Given the description of an element on the screen output the (x, y) to click on. 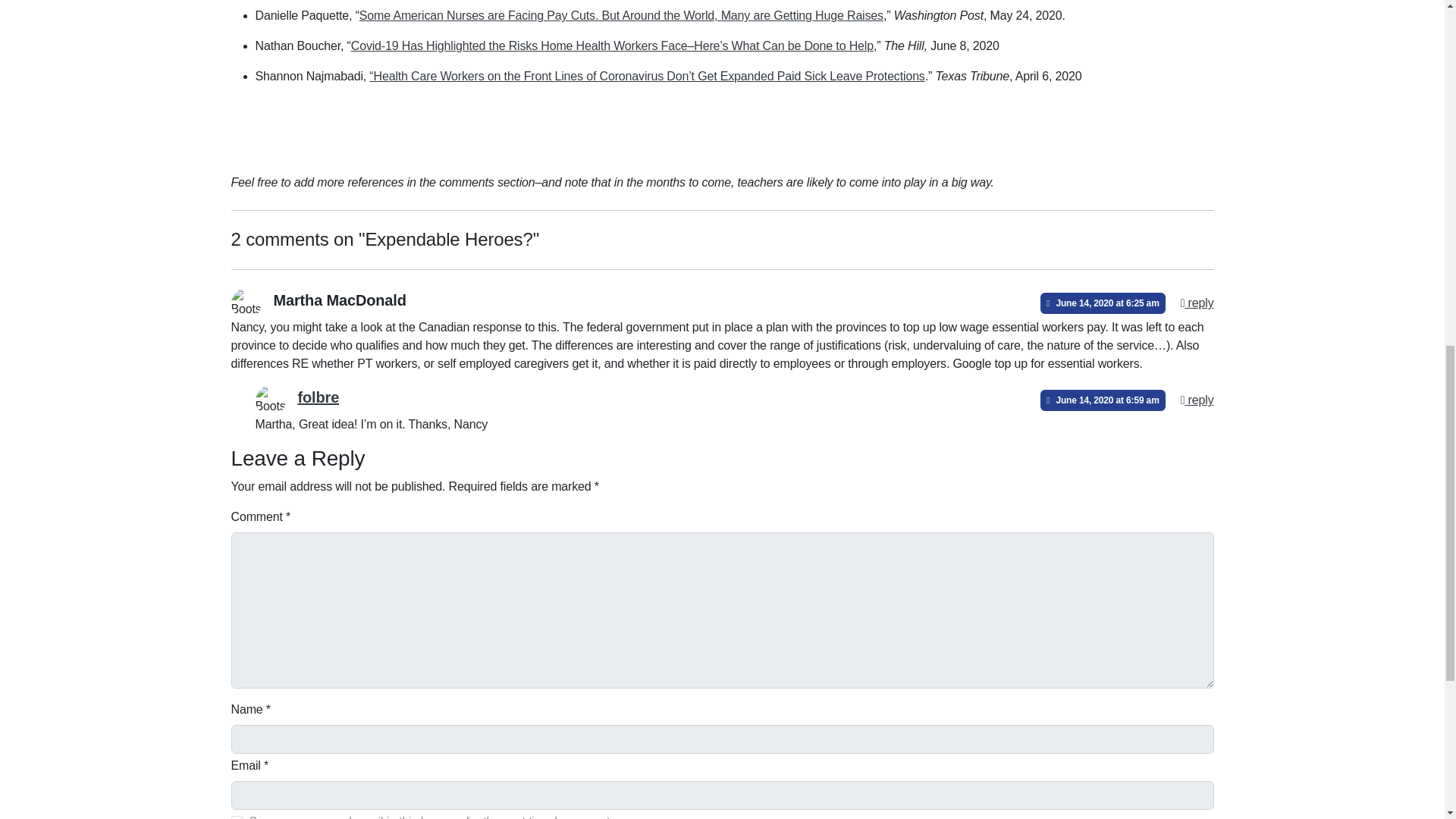
yes (236, 817)
